Given the description of an element on the screen output the (x, y) to click on. 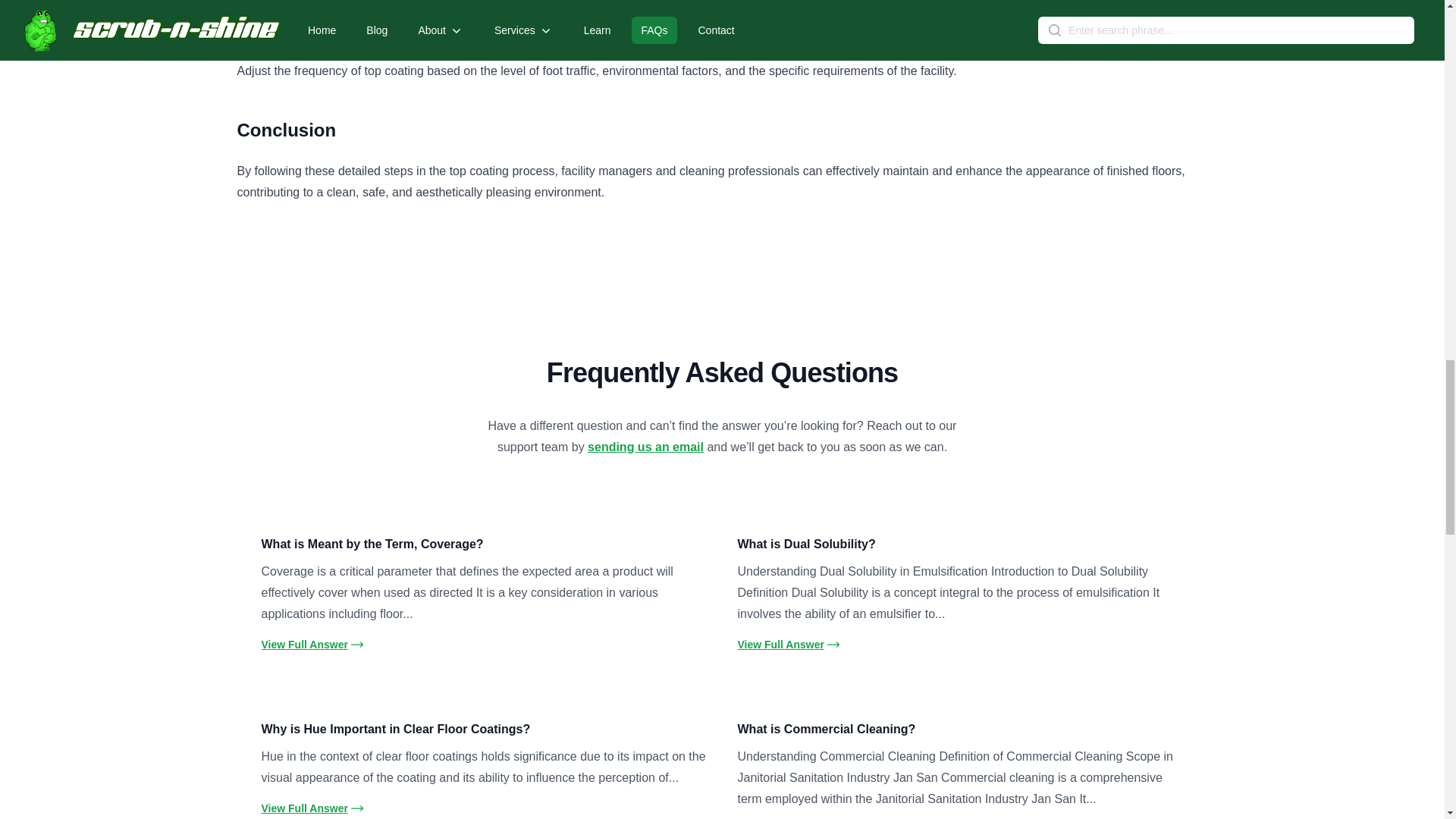
sending us an email (645, 446)
View Full Answer (312, 808)
View Full Answer (788, 644)
View Full Answer (312, 644)
